Given the description of an element on the screen output the (x, y) to click on. 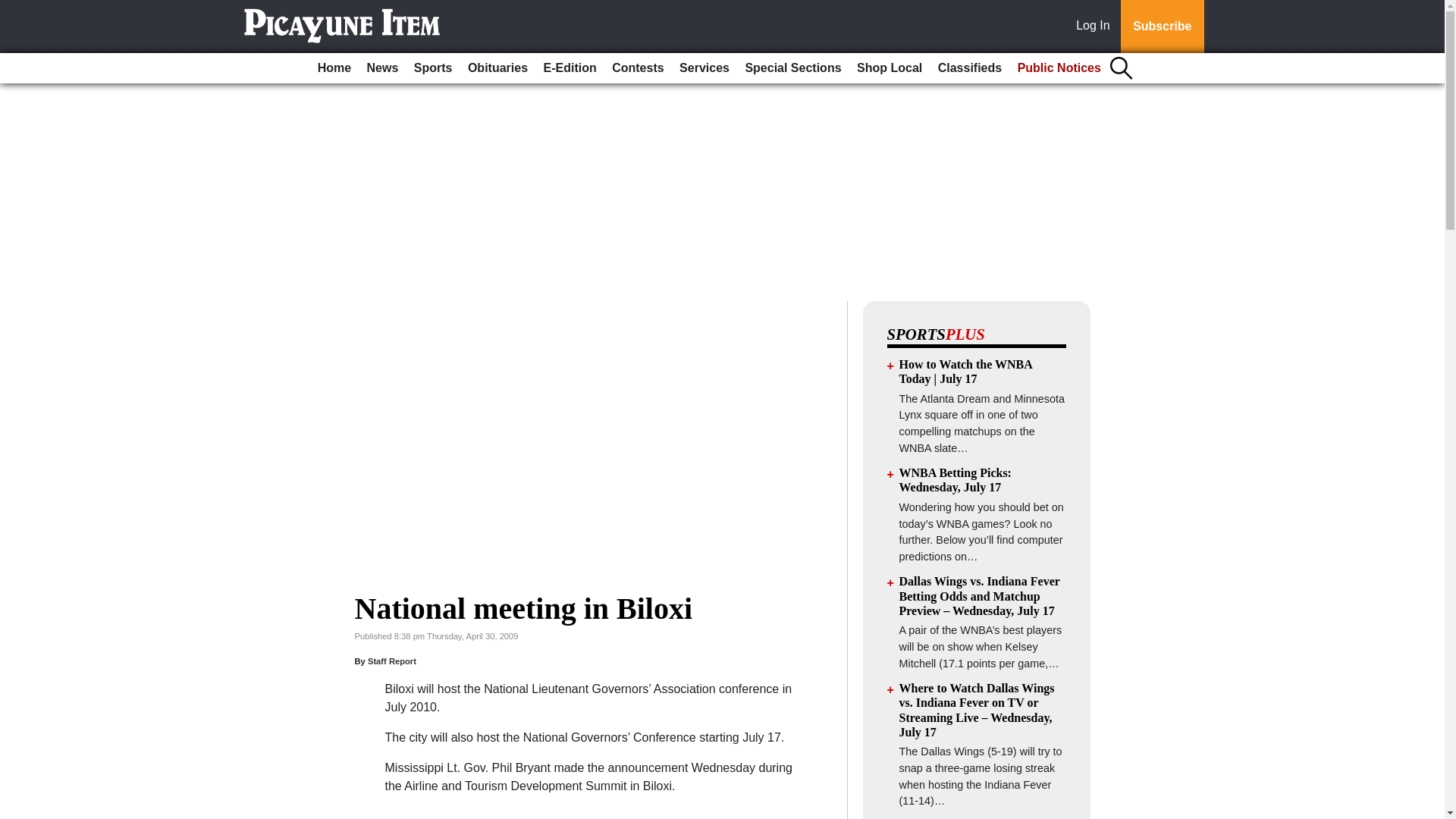
Sports (432, 68)
Obituaries (497, 68)
Services (703, 68)
Go (13, 9)
Log In (1095, 26)
E-Edition (569, 68)
Special Sections (792, 68)
Subscribe (1162, 26)
Home (333, 68)
WNBA Betting Picks: Wednesday, July 17 (955, 479)
Contests (637, 68)
News (382, 68)
Shop Local (889, 68)
Classifieds (969, 68)
Staff Report (392, 660)
